Given the description of an element on the screen output the (x, y) to click on. 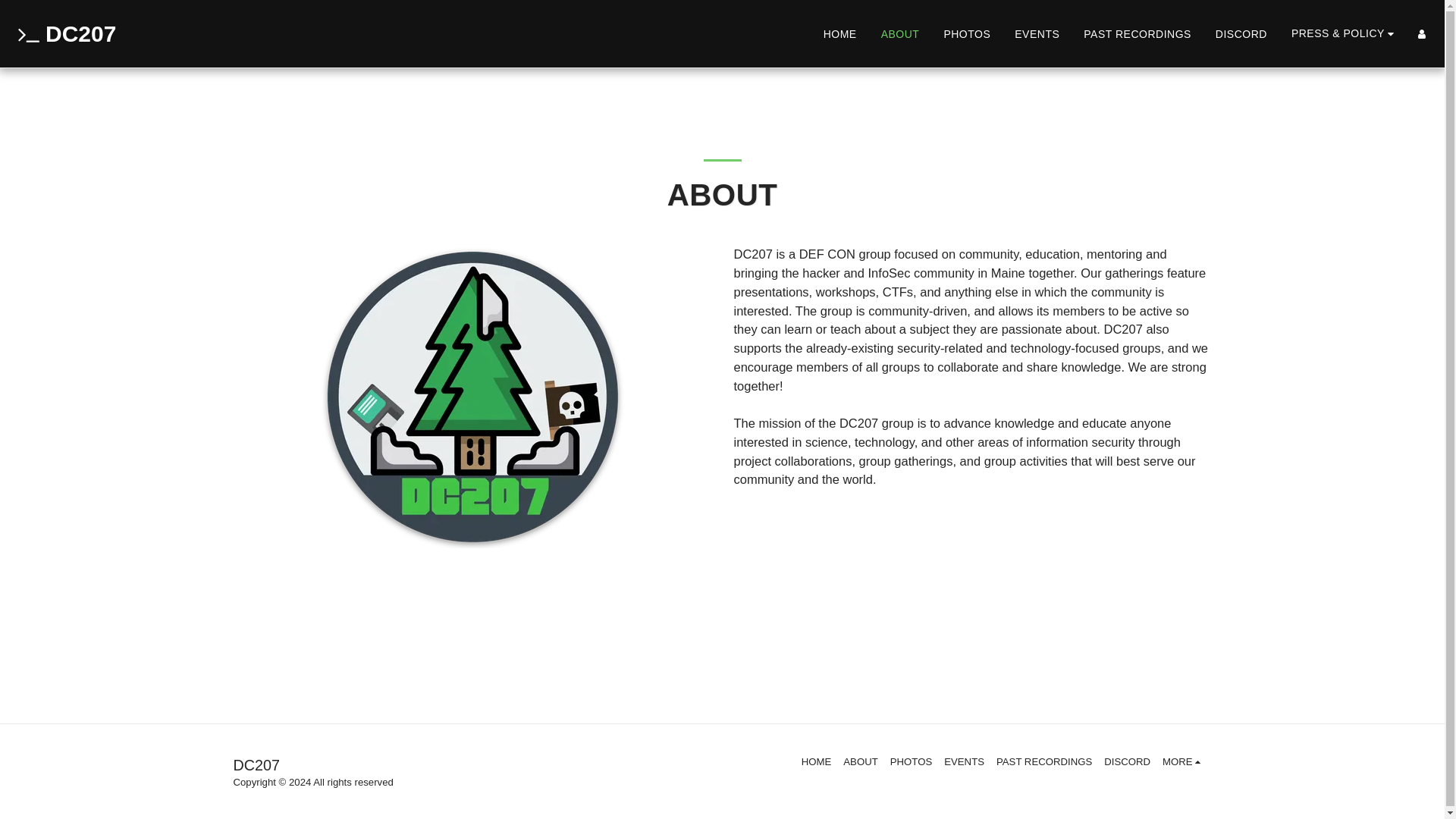
EVENTS (1036, 33)
DISCORD (1126, 761)
PHOTOS (910, 761)
PAST RECORDINGS (1136, 33)
HOME (816, 761)
MORE   (1183, 761)
ABOUT (900, 33)
PHOTOS (966, 33)
DC207 (63, 33)
